Given the description of an element on the screen output the (x, y) to click on. 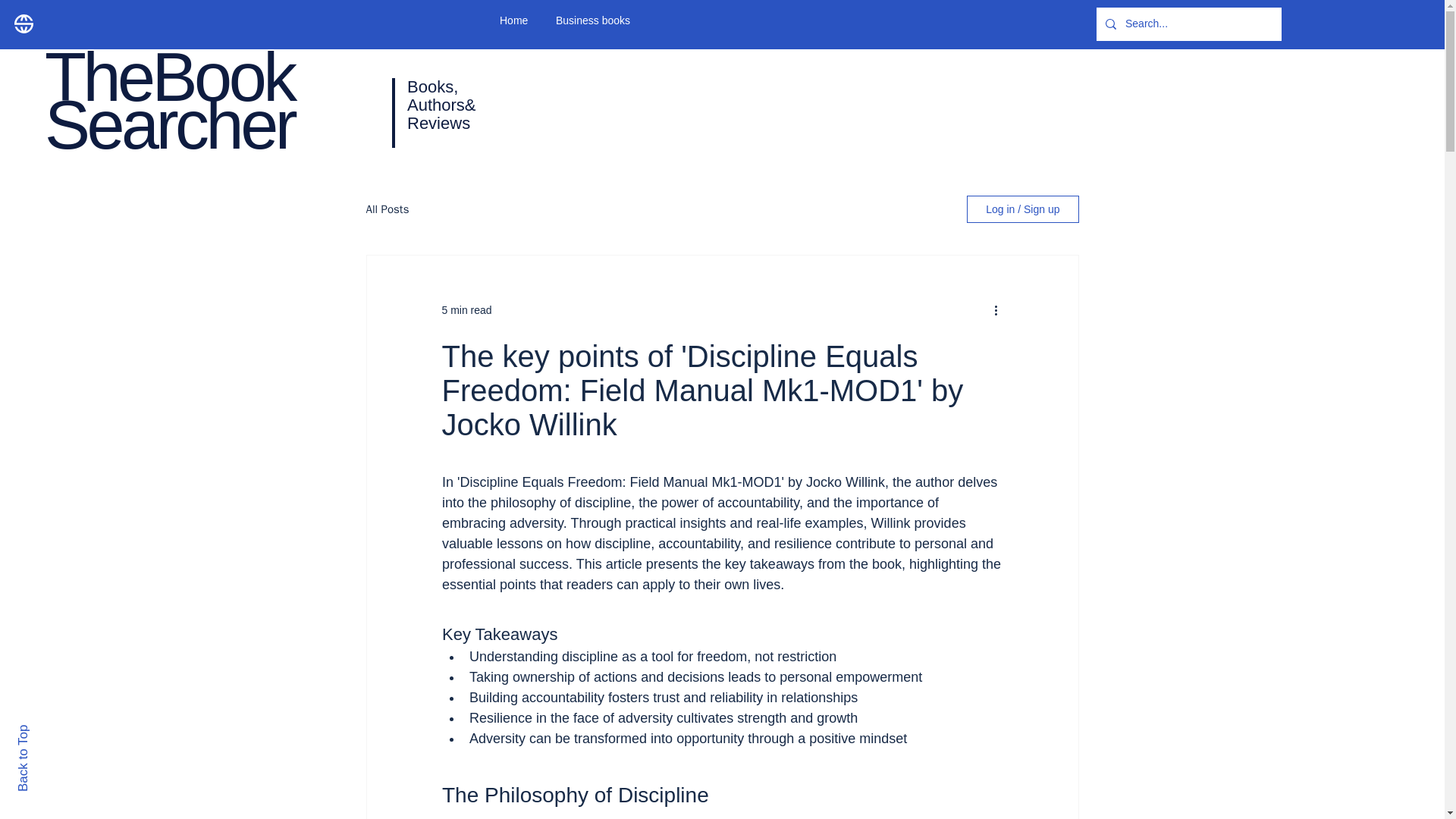
TheBook (169, 77)
All Posts (387, 208)
Searcher (169, 124)
Back to Top (49, 730)
Home (515, 20)
Business books (601, 20)
5 min read (466, 309)
